Given the description of an element on the screen output the (x, y) to click on. 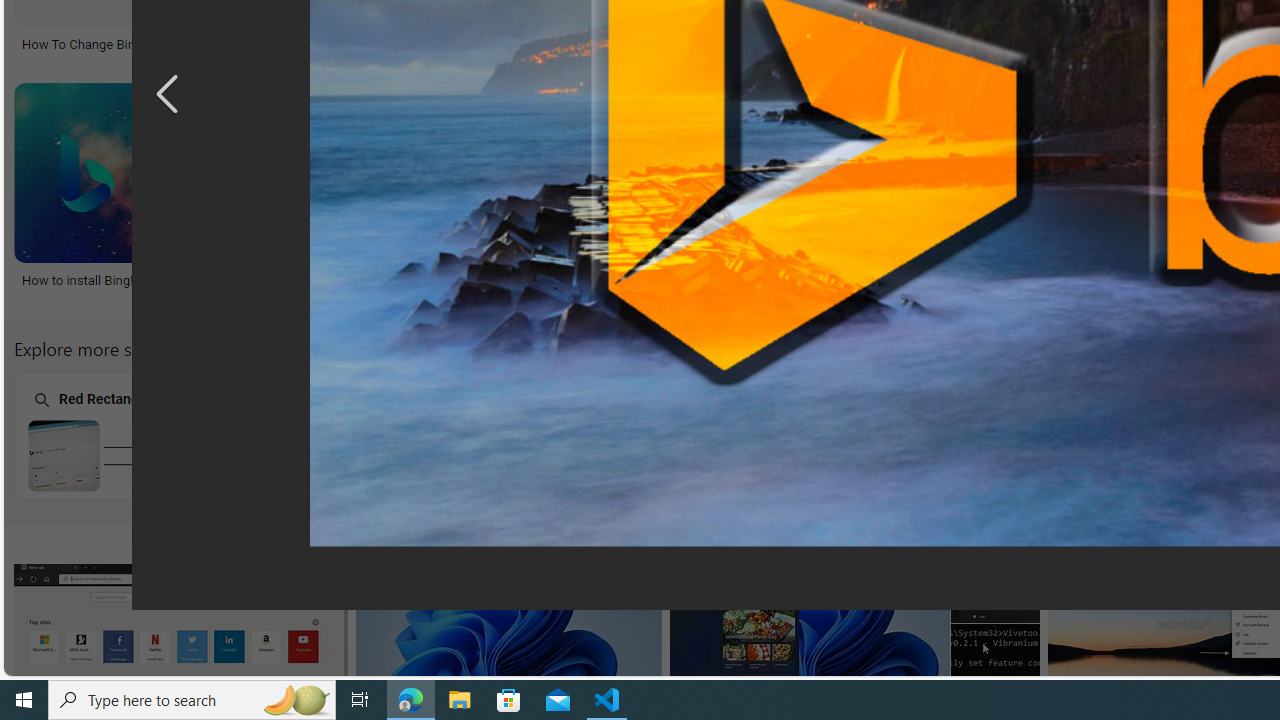
Image result for Bing Search Bar Install (508, 623)
Red Rectangle Bing Search Bar Red Rectangle (139, 435)
How To Change Bing Search Bar To Google Windows 10 (202, 44)
Bing Search Bar Enter Key Enter Key (651, 435)
Bing Search Bar Enter Key (652, 455)
Red Rectangle Bing Search Bar (140, 455)
Enter Key (651, 435)
Bing Search Bar Special Characters (396, 455)
Bing Search Bar On Home Screen (908, 455)
Install Bing In Windows 10 - Image to u (483, 279)
